Given the description of an element on the screen output the (x, y) to click on. 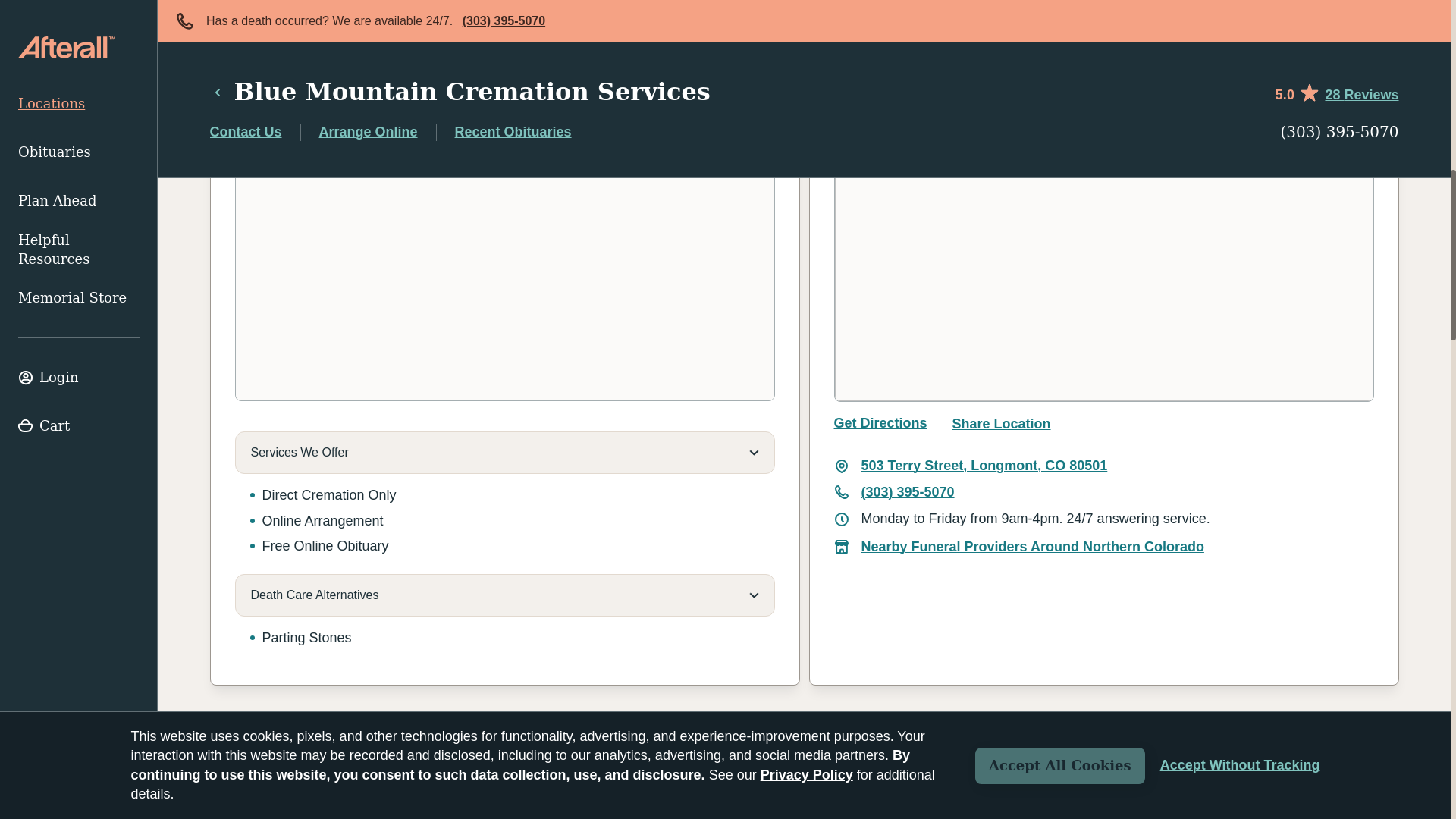
Get Directions (880, 422)
Death Care Alternatives (504, 595)
Share Location (961, 423)
Services We Offer (504, 452)
